Given the description of an element on the screen output the (x, y) to click on. 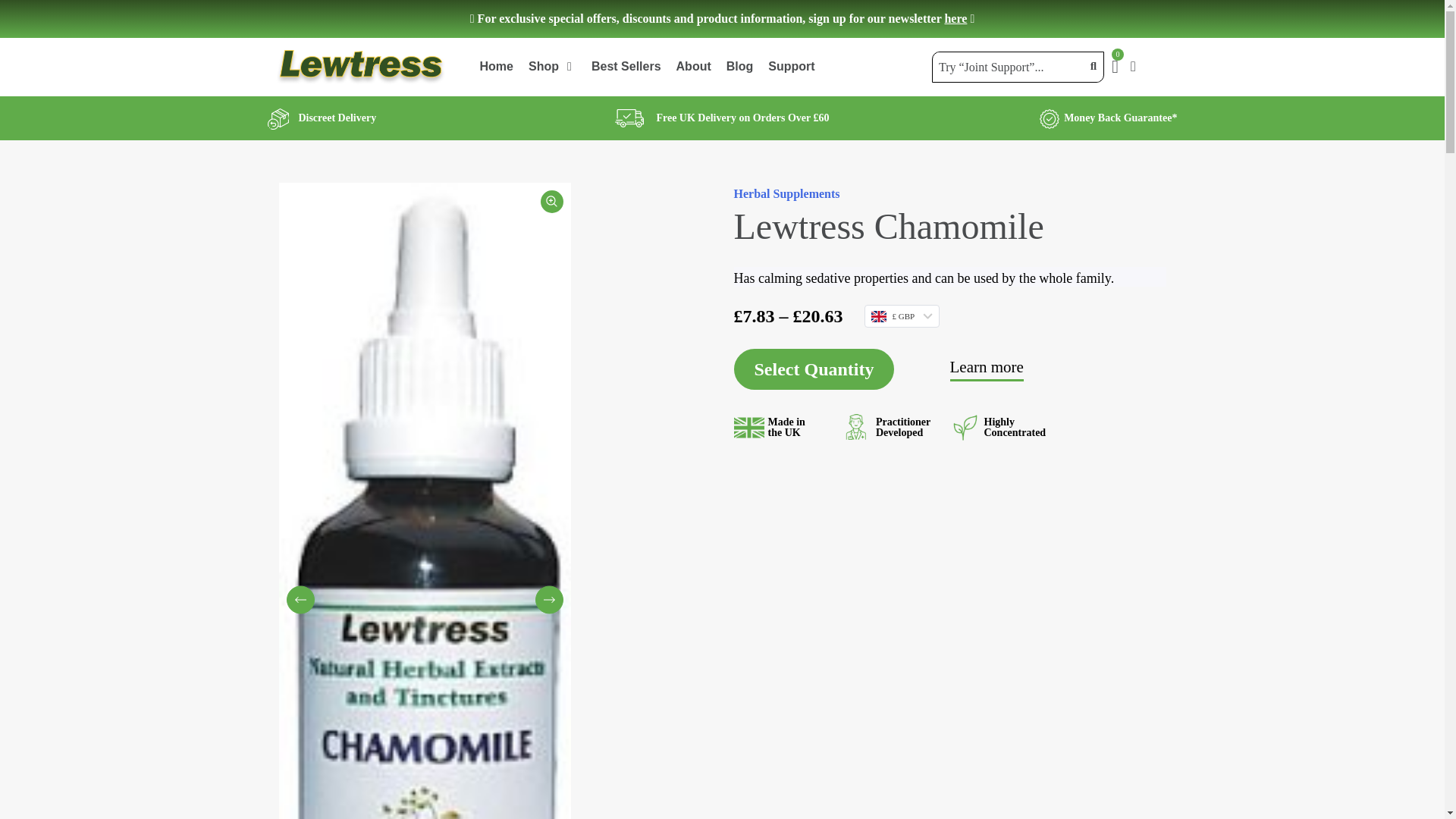
Search (1011, 66)
deslivery (628, 118)
Home (495, 66)
discrete (277, 118)
guarantee (1049, 118)
Shop (543, 66)
